Given the description of an element on the screen output the (x, y) to click on. 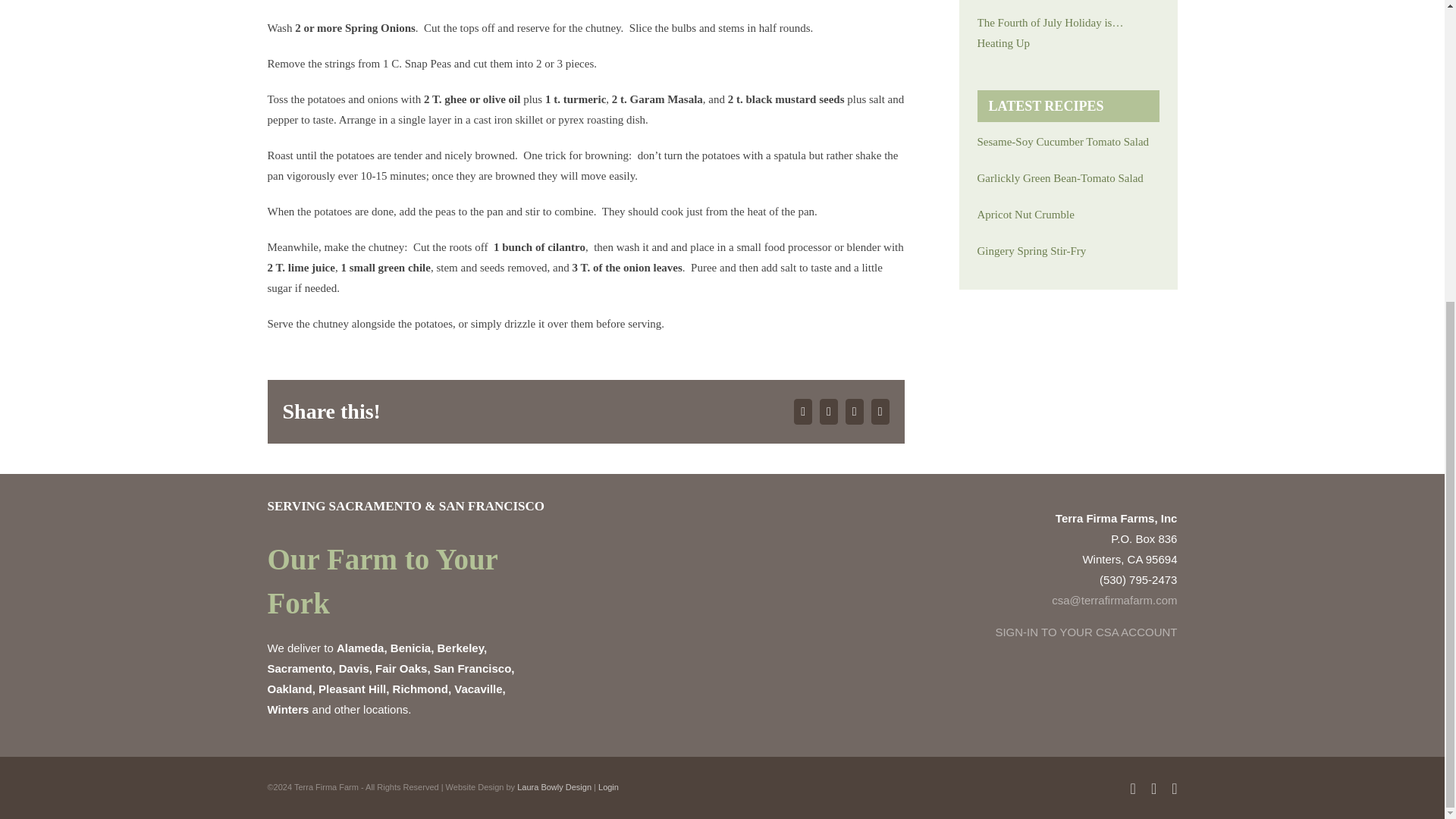
Sesame-Soy Cucumber Tomato Salad (1067, 141)
Gingery Spring Stir-Fry (1067, 250)
Garlickly Green Bean-Tomato Salad (1067, 178)
Apricot Nut Crumble (1067, 214)
SIGN-IN TO YOUR CSA ACCOUNT (1085, 631)
